Given the description of an element on the screen output the (x, y) to click on. 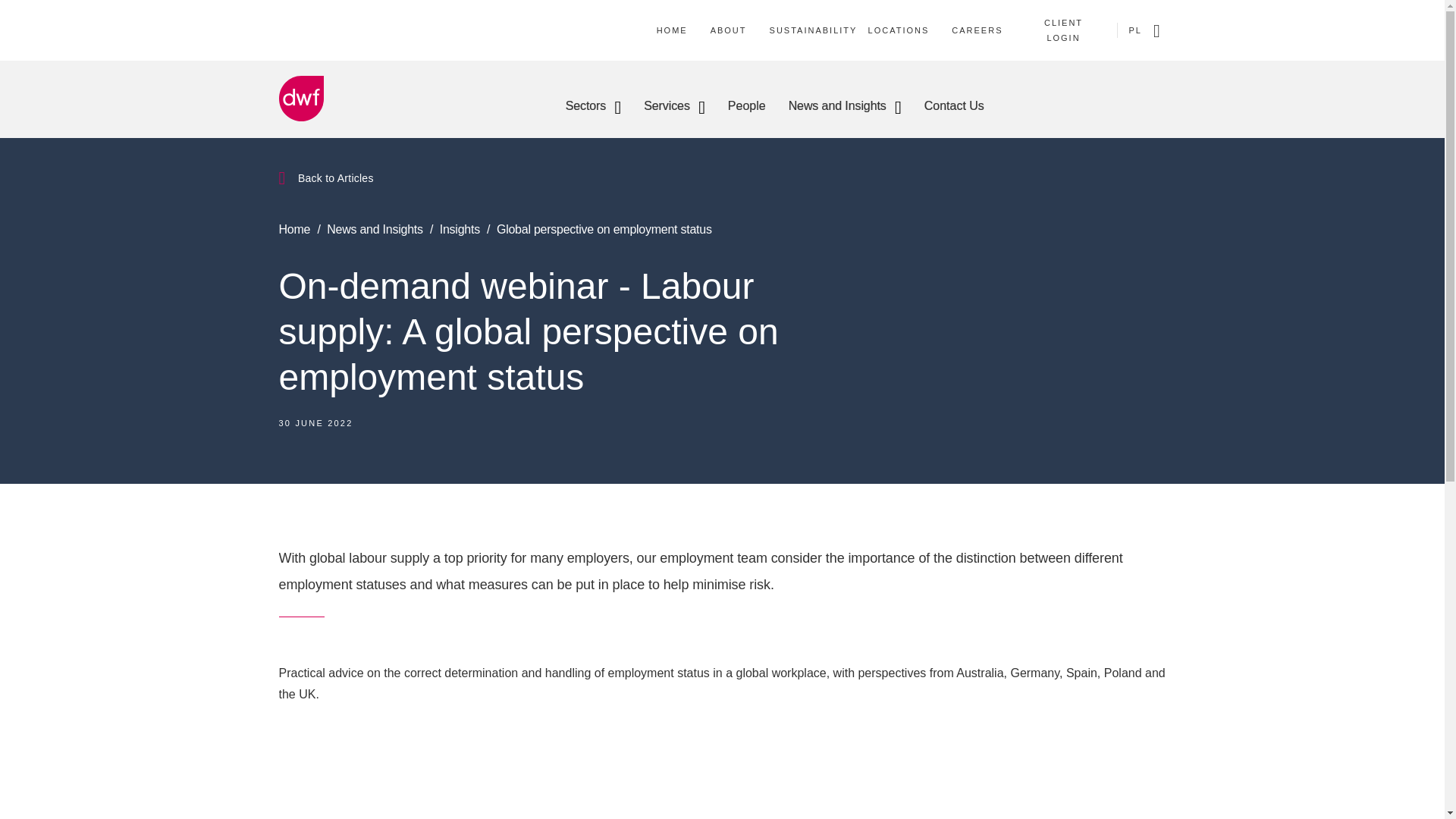
CAREERS (977, 30)
HOME (671, 30)
SUSTAINABILITY (813, 30)
LOCATIONS (898, 30)
CLIENT LOGIN (1063, 30)
ABOUT (728, 30)
